Given the description of an element on the screen output the (x, y) to click on. 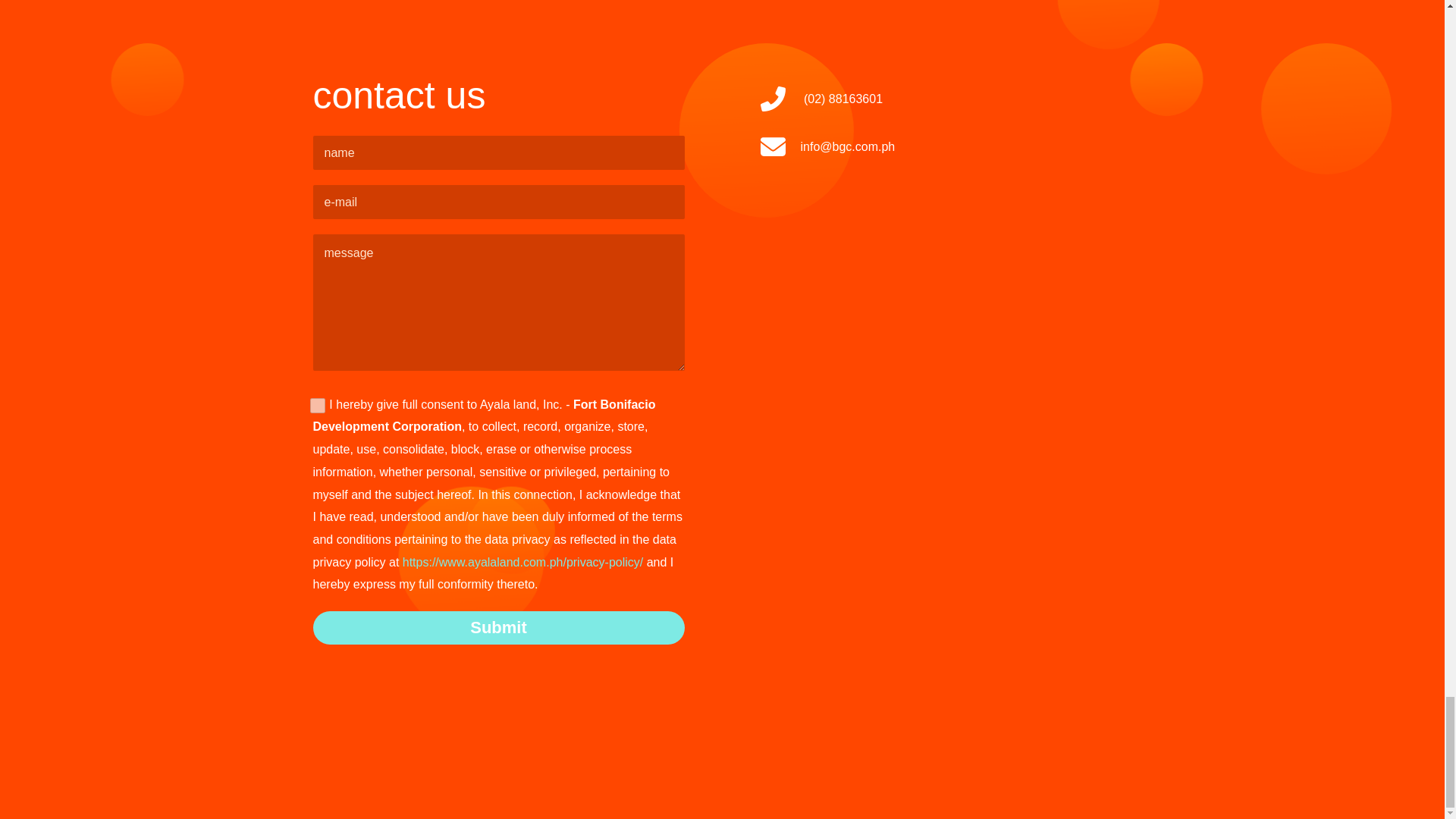
Submit (498, 627)
Google Map for  (945, 369)
1 (317, 405)
